Given the description of an element on the screen output the (x, y) to click on. 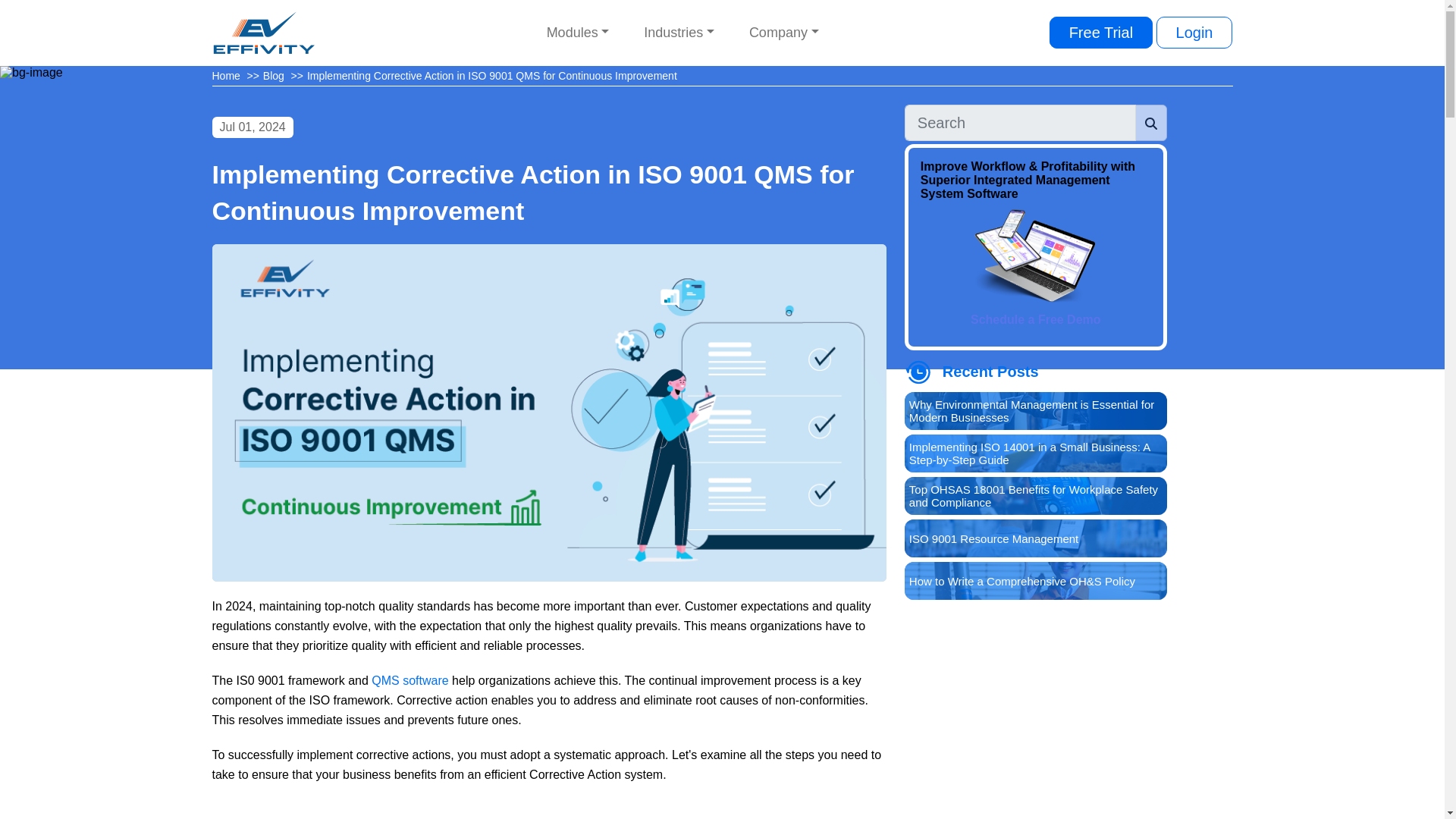
Modules (577, 32)
Industries (678, 32)
Company (783, 32)
